Given the description of an element on the screen output the (x, y) to click on. 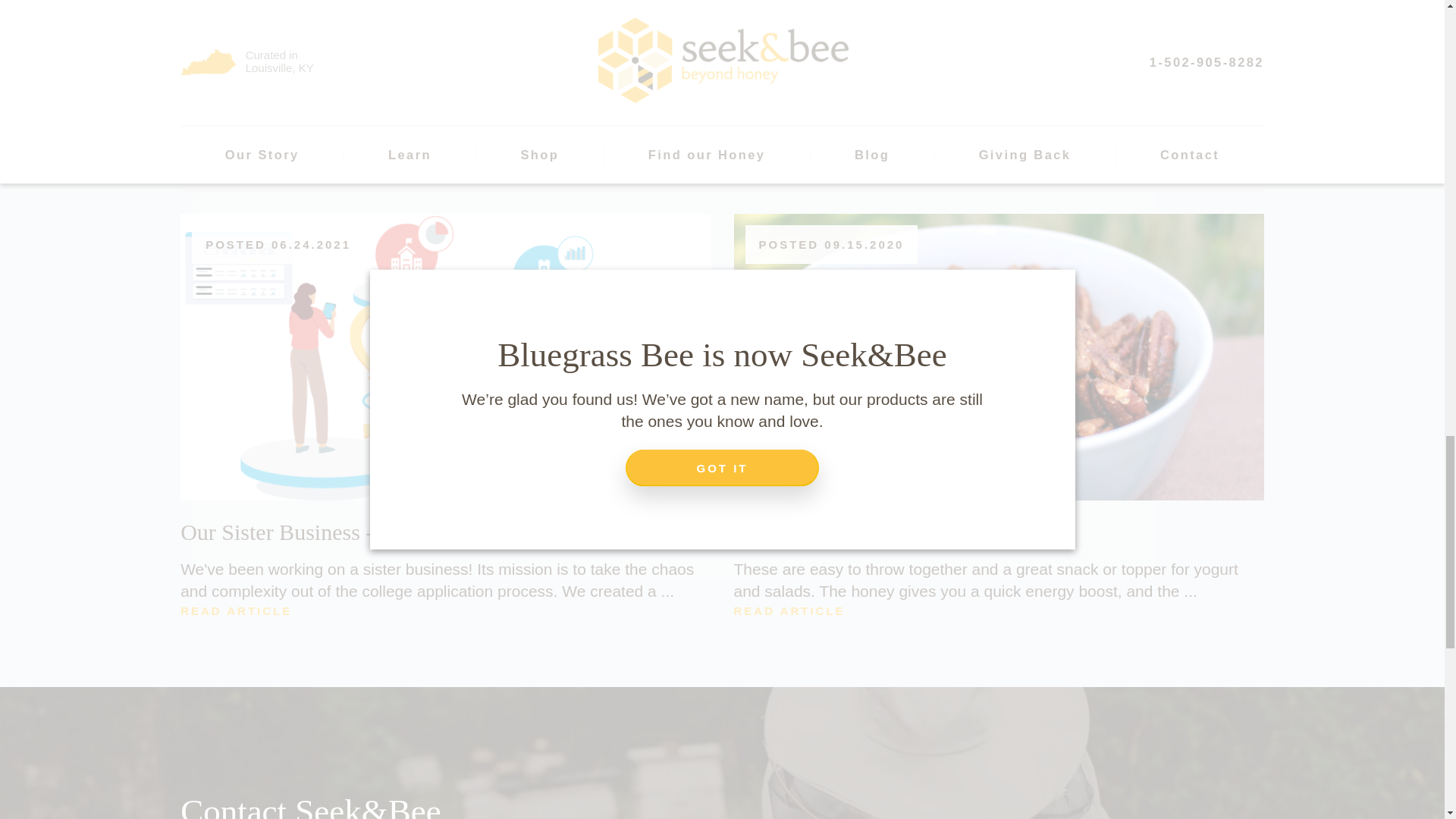
BACK TO ALL (741, 29)
PREVIOUS ARTICLE (259, 29)
NEXT ARTICLE (1202, 29)
